Given the description of an element on the screen output the (x, y) to click on. 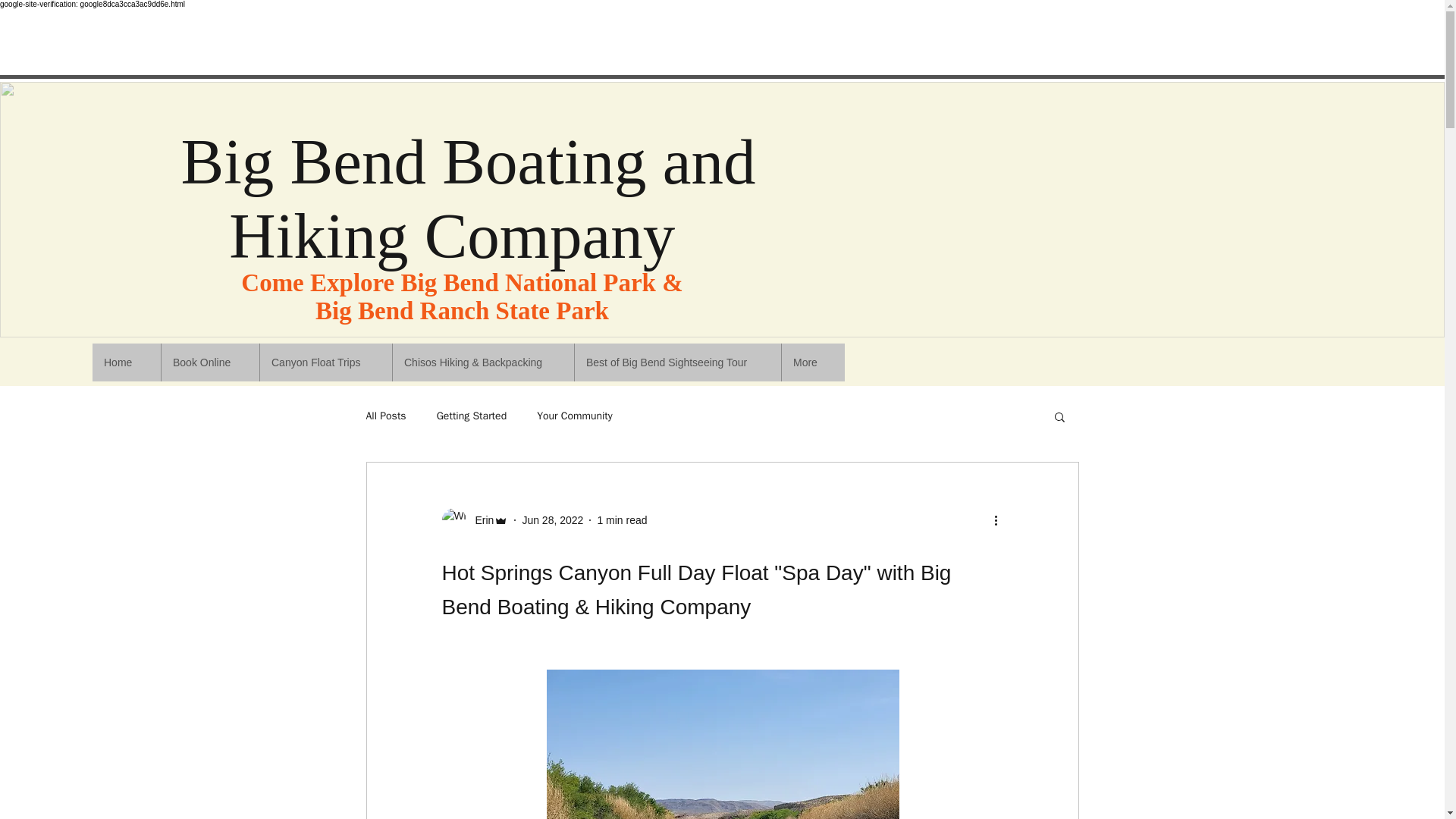
1 min read (621, 520)
Erin (479, 520)
Getting Started (471, 416)
Canyon Float Trips (325, 362)
Book Online (209, 362)
Your Community (574, 416)
Jun 28, 2022 (552, 520)
Best of Big Bend Sightseeing Tour (676, 362)
Erin (474, 519)
Home (126, 362)
All Posts (385, 416)
